Given the description of an element on the screen output the (x, y) to click on. 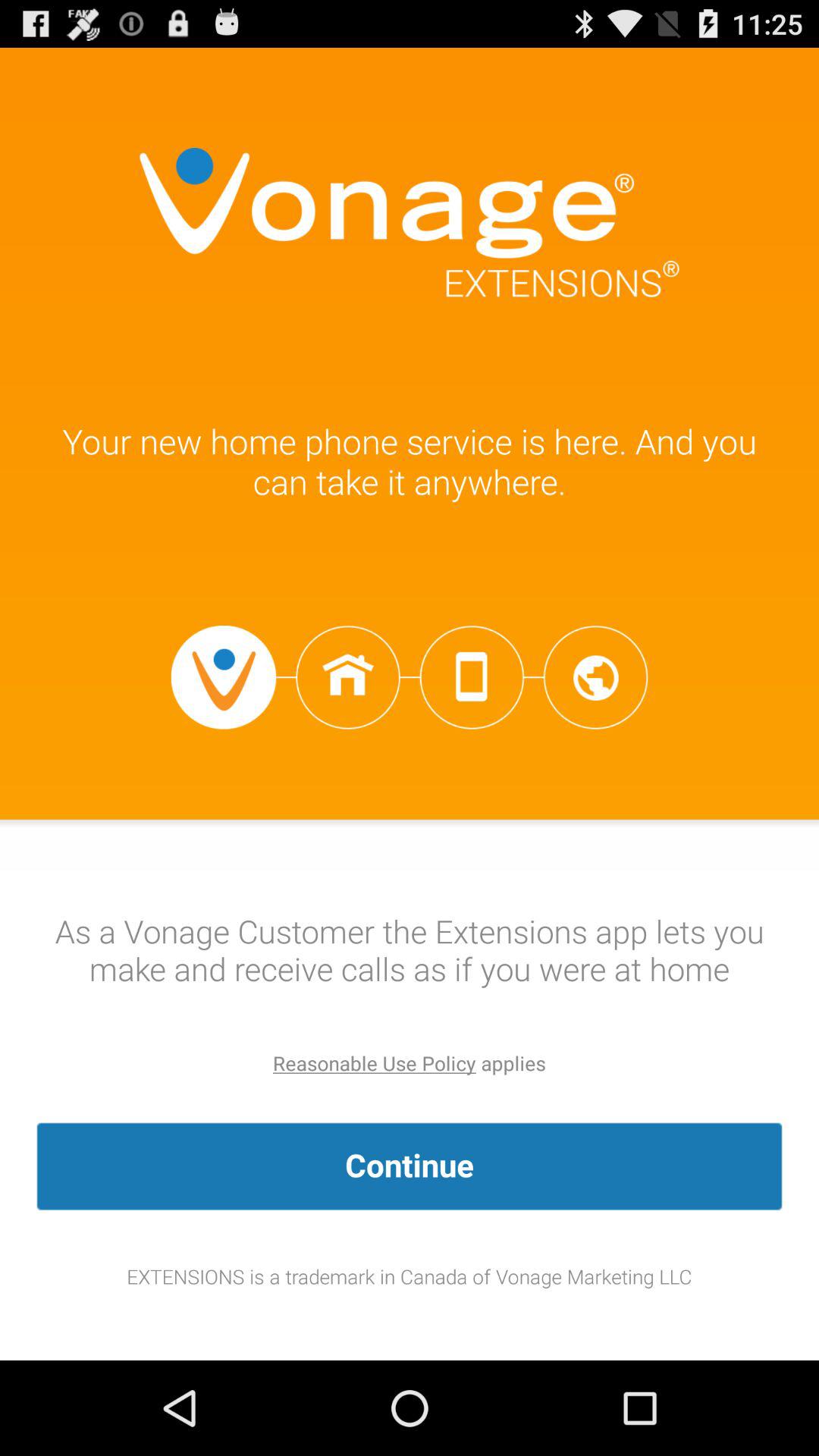
choose item next to  applies icon (374, 1062)
